Given the description of an element on the screen output the (x, y) to click on. 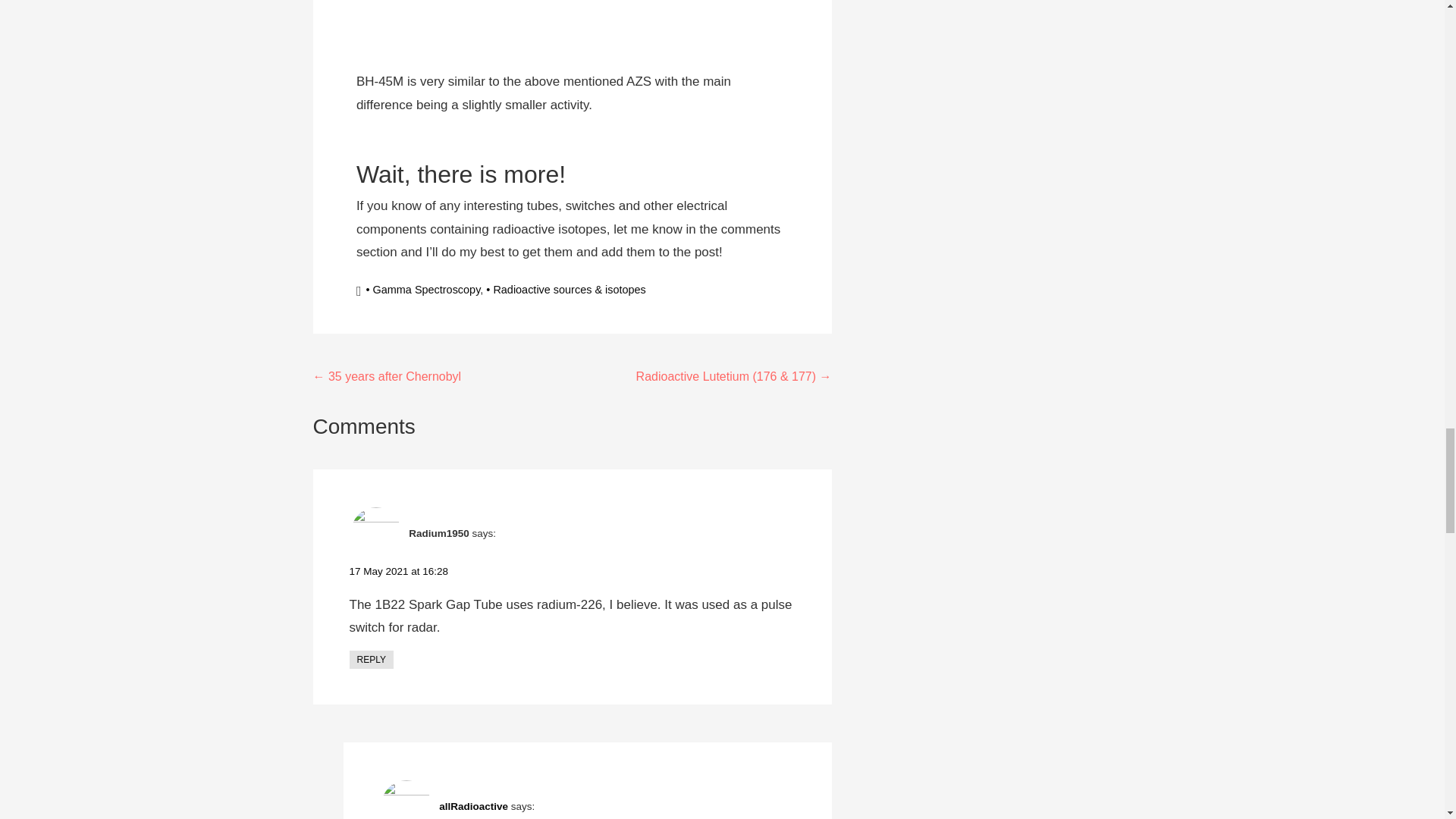
allRadioactive (473, 806)
17 May 2021 at 16:28 (398, 571)
REPLY (371, 659)
